Given the description of an element on the screen output the (x, y) to click on. 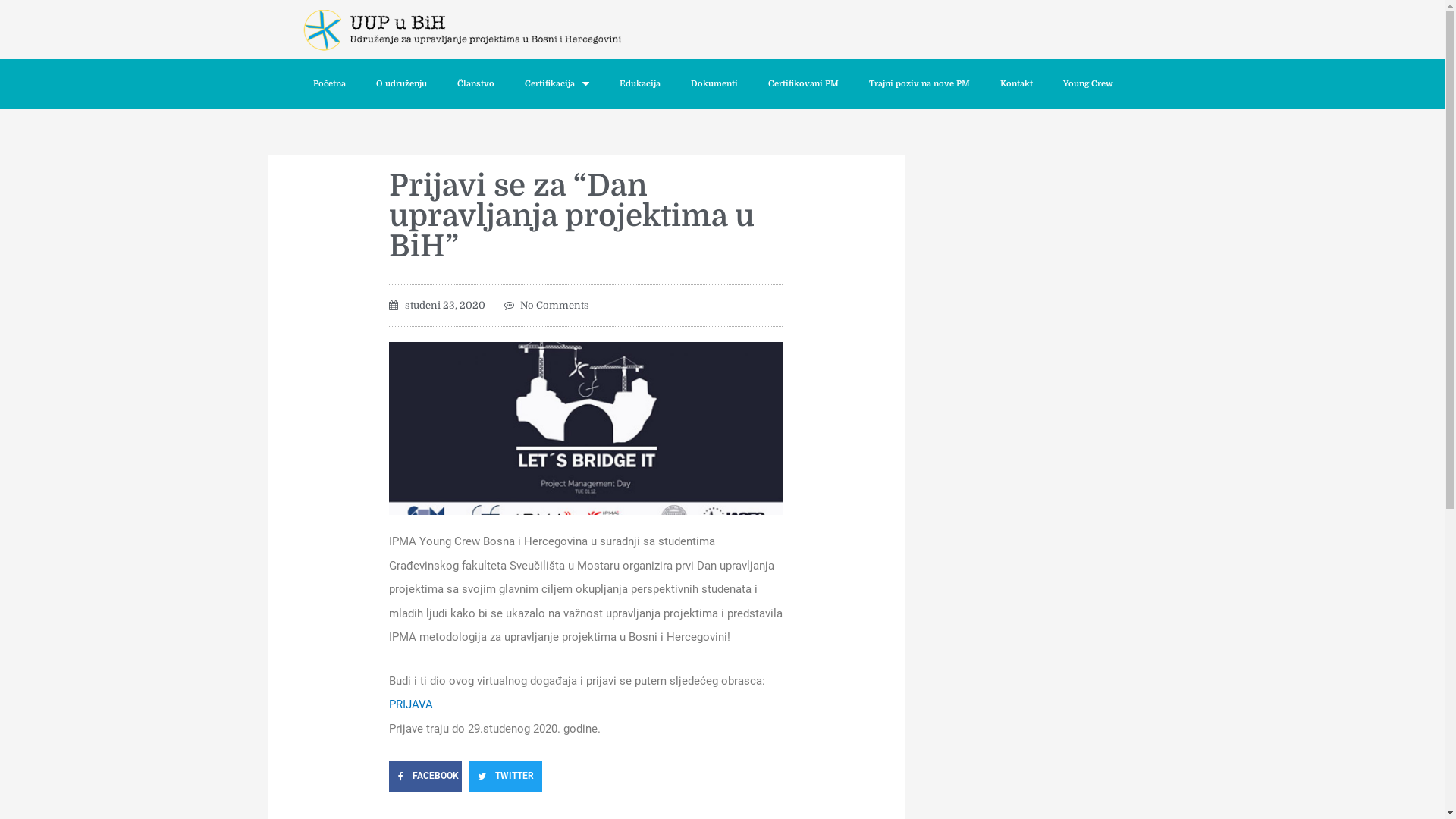
PRIJAVA Element type: text (411, 704)
Dokumenti Element type: text (713, 83)
studeni 23, 2020 Element type: text (437, 305)
Trajni poziv na nove PM Element type: text (919, 83)
Certifikacija Element type: text (556, 83)
127006145_23846096503570462_2995520552846455553_n.png Element type: hover (586, 428)
Certifikovani PM Element type: text (802, 83)
No Comments Element type: text (546, 305)
Edukacija Element type: text (638, 83)
Young Crew Element type: text (1088, 83)
Kontakt Element type: text (1015, 83)
